Given the description of an element on the screen output the (x, y) to click on. 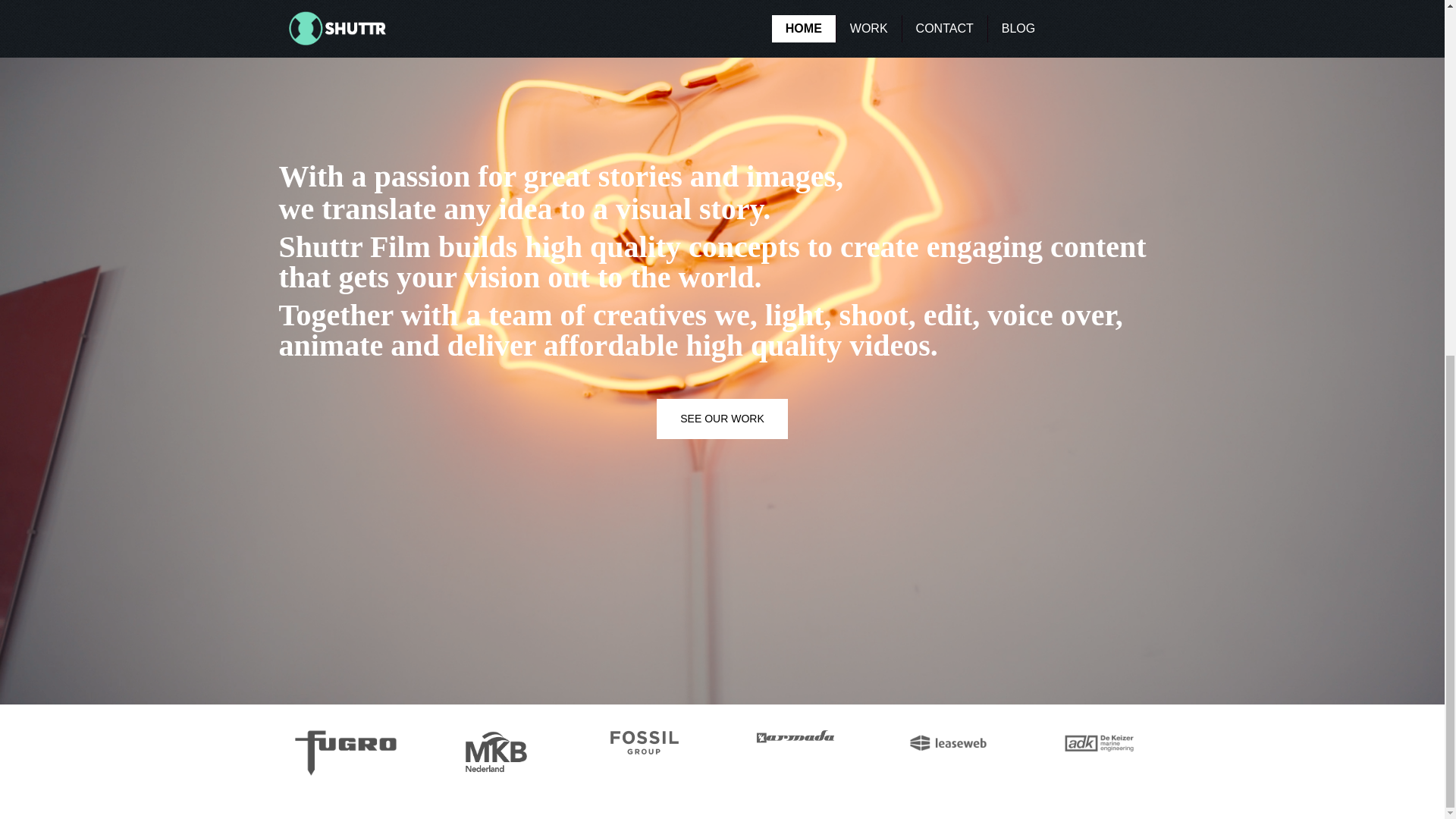
SEE OUR WORK (721, 418)
